Given the description of an element on the screen output the (x, y) to click on. 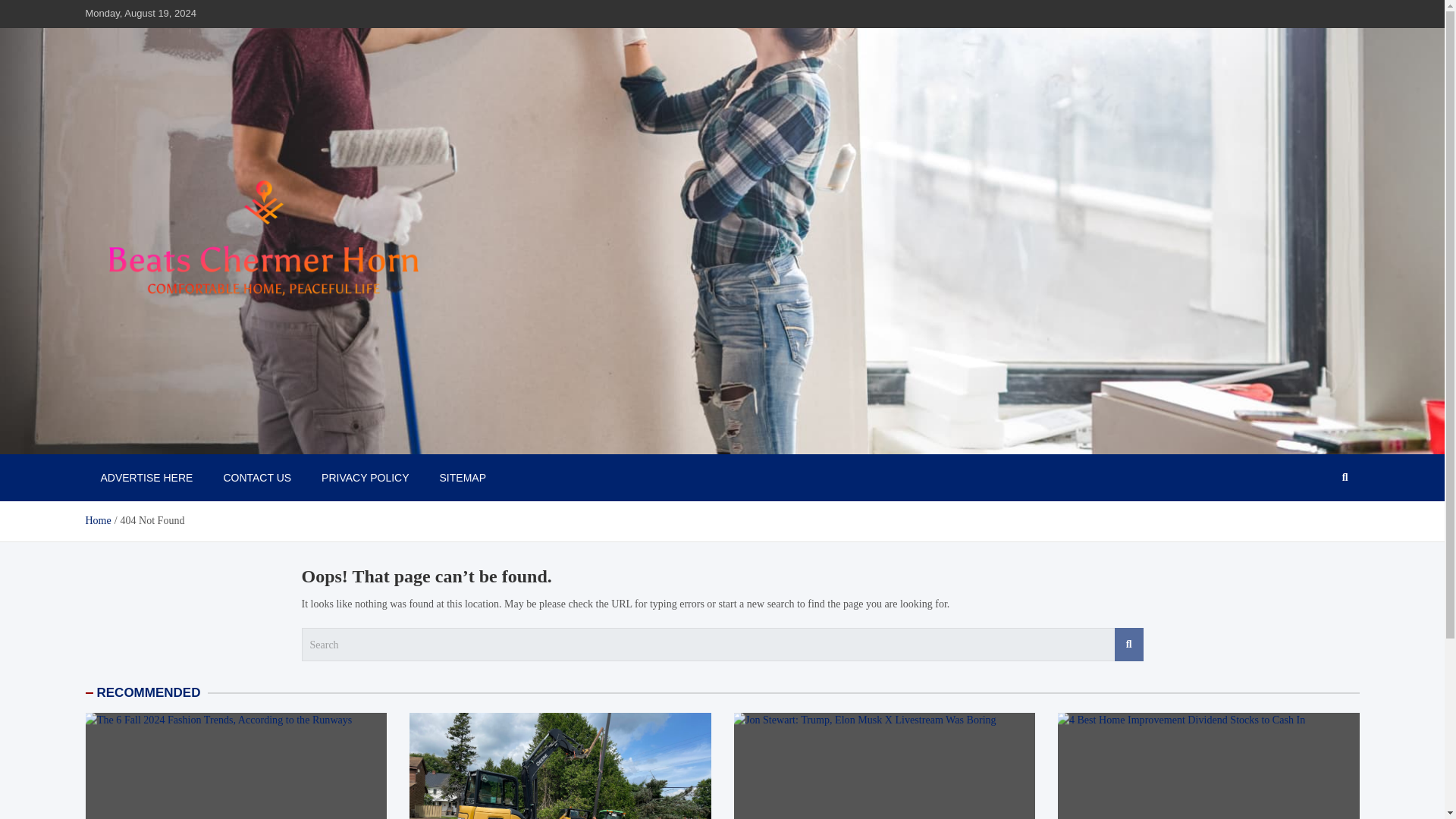
ADVERTISE HERE (146, 477)
Jon Stewart: Trump, Elon Musk X Livestream Was Boring (882, 765)
RECOMMENDED (148, 692)
Home (97, 520)
4 Best Home Improvement Dividend Stocks to Cash In (1207, 765)
PRIVACY POLICY (364, 477)
Beats Chermer Horn (193, 437)
CONTACT US (256, 477)
SITEMAP (462, 477)
The 6 Fall 2024 Fashion Trends, According to the Runways (234, 765)
